Given the description of an element on the screen output the (x, y) to click on. 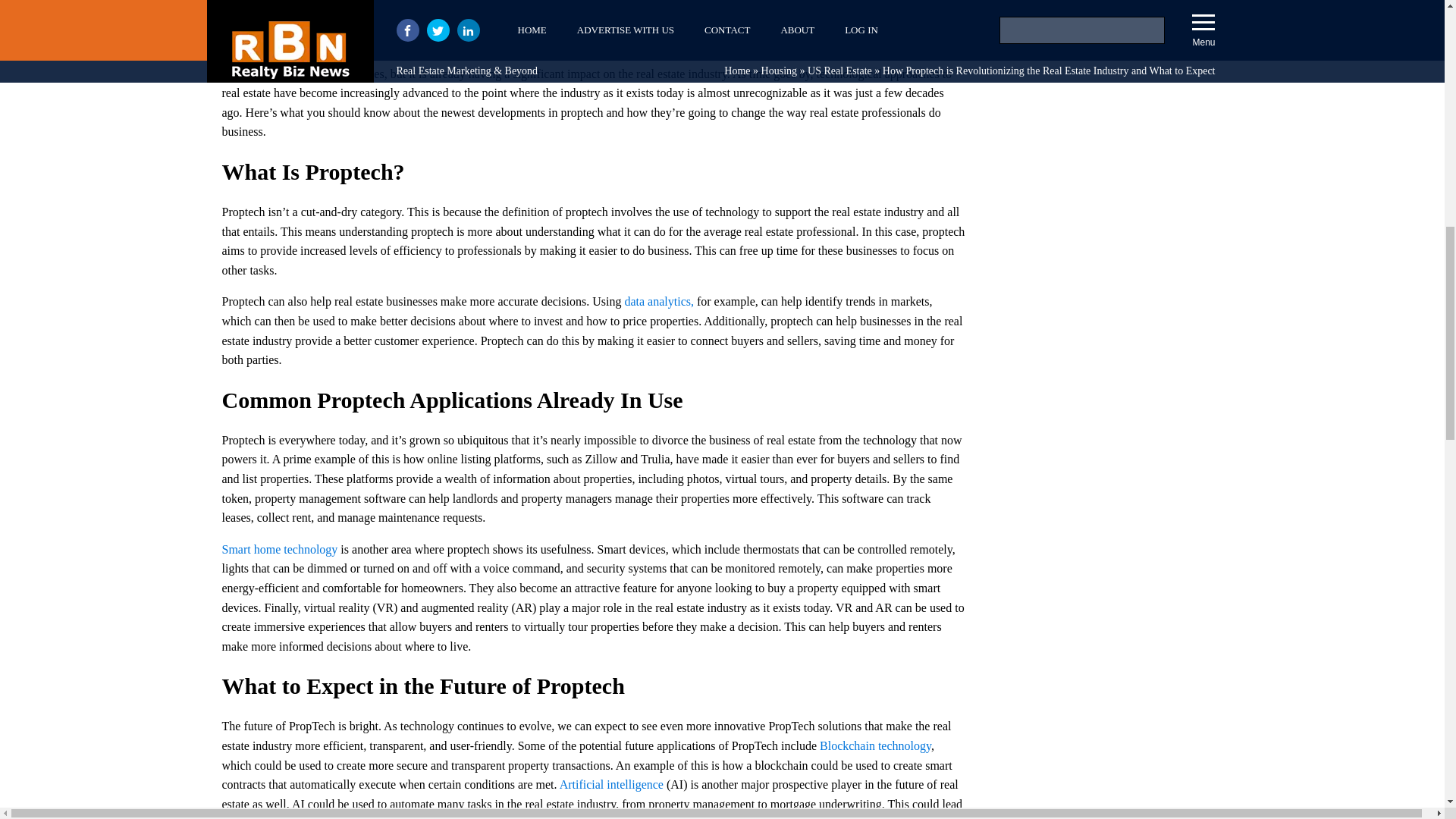
Advertisement (1108, 45)
